Given the description of an element on the screen output the (x, y) to click on. 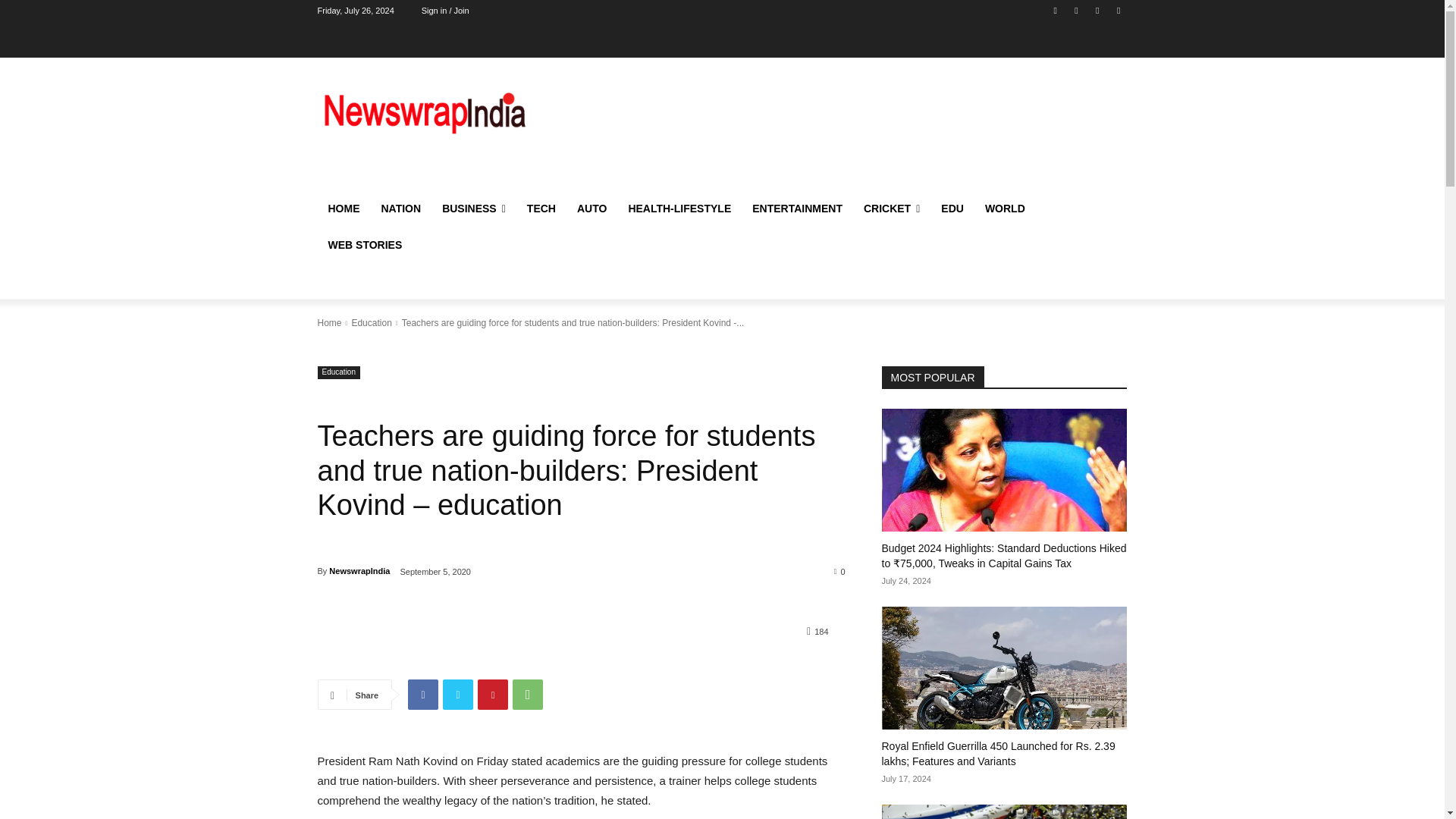
Facebook (422, 694)
View all posts in Education (370, 322)
Facebook (1055, 9)
Advertisement (846, 128)
WhatsApp (527, 694)
BUSINESS (473, 208)
Twitter (1075, 9)
TECH (541, 208)
Youtube (1097, 9)
Pinterest (492, 694)
ENTERTAINMENT (797, 208)
Google News (1117, 9)
NATION (399, 208)
AUTO (591, 208)
HOME (343, 208)
